Given the description of an element on the screen output the (x, y) to click on. 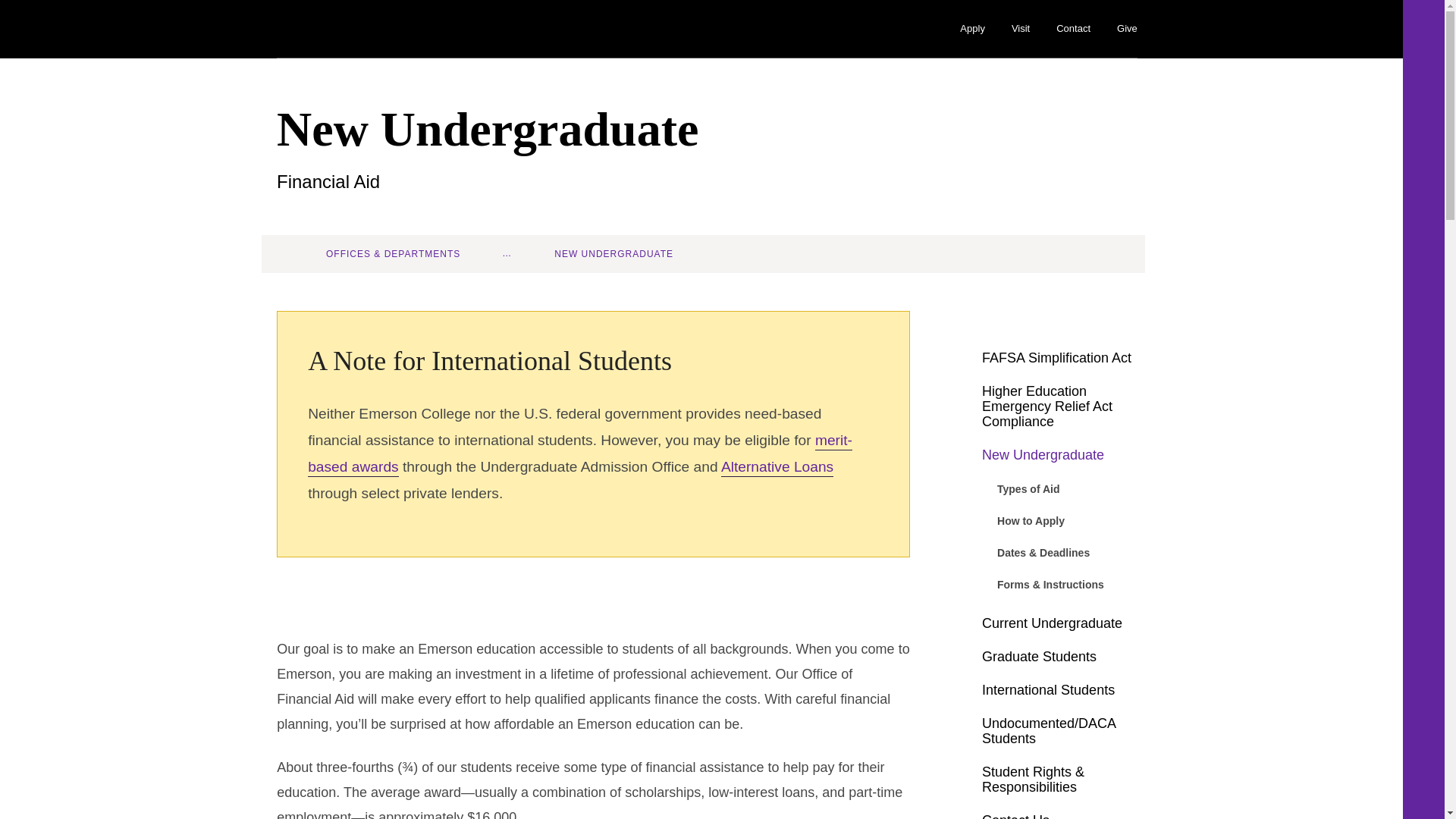
Alternative Loans (776, 466)
NEW UNDERGRADUATE (620, 253)
HOME (290, 253)
merit-based awards (579, 453)
Merit-Based Scholarships (579, 453)
Types of Aid (1067, 489)
Emerson College (364, 28)
Alternative Loans (776, 466)
Contact (1073, 28)
Menu (1423, 33)
